Given the description of an element on the screen output the (x, y) to click on. 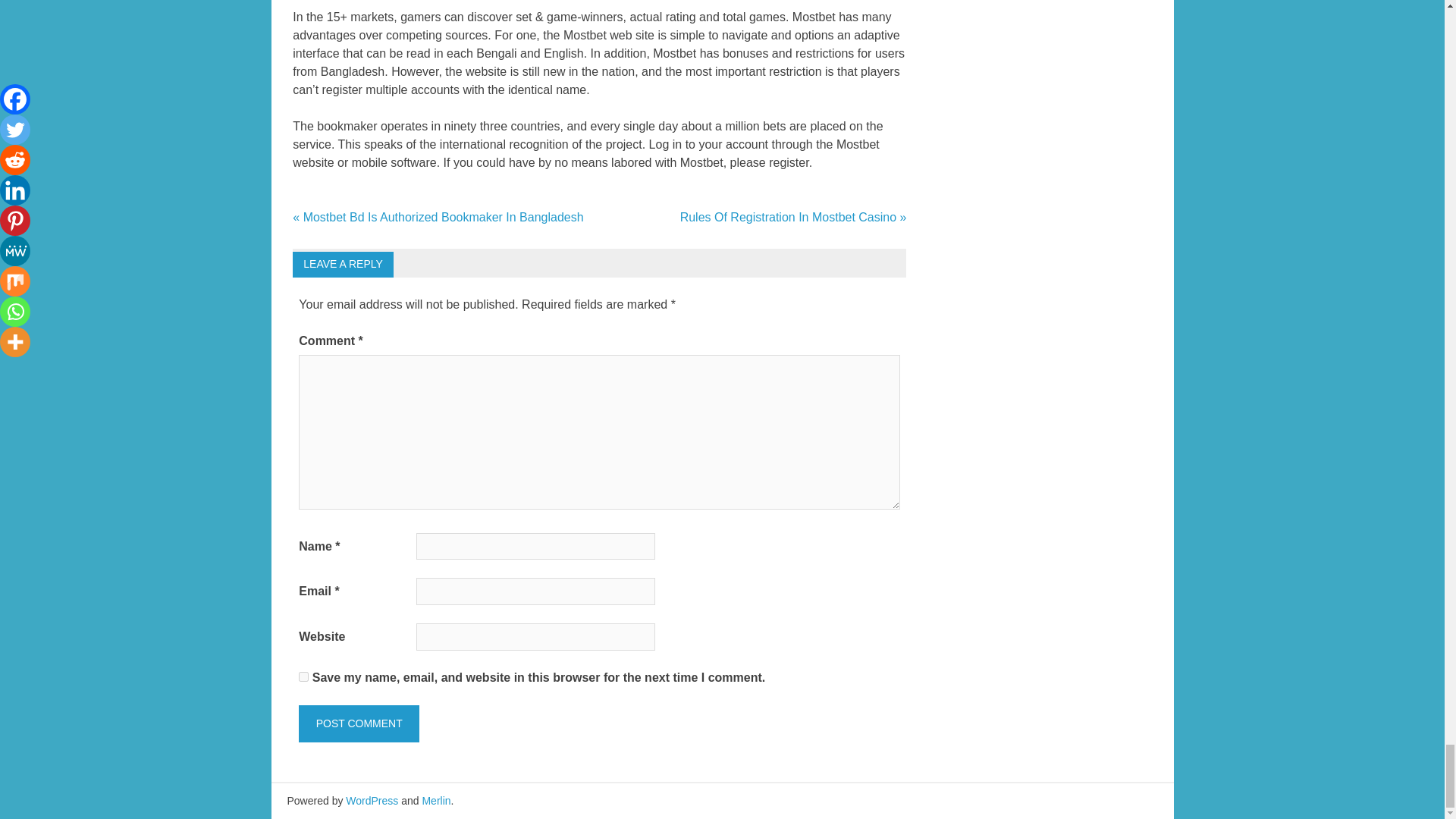
WordPress (371, 800)
Post Comment (358, 723)
Merlin (435, 800)
WordPress (371, 800)
yes (303, 676)
Post Comment (358, 723)
